Given the description of an element on the screen output the (x, y) to click on. 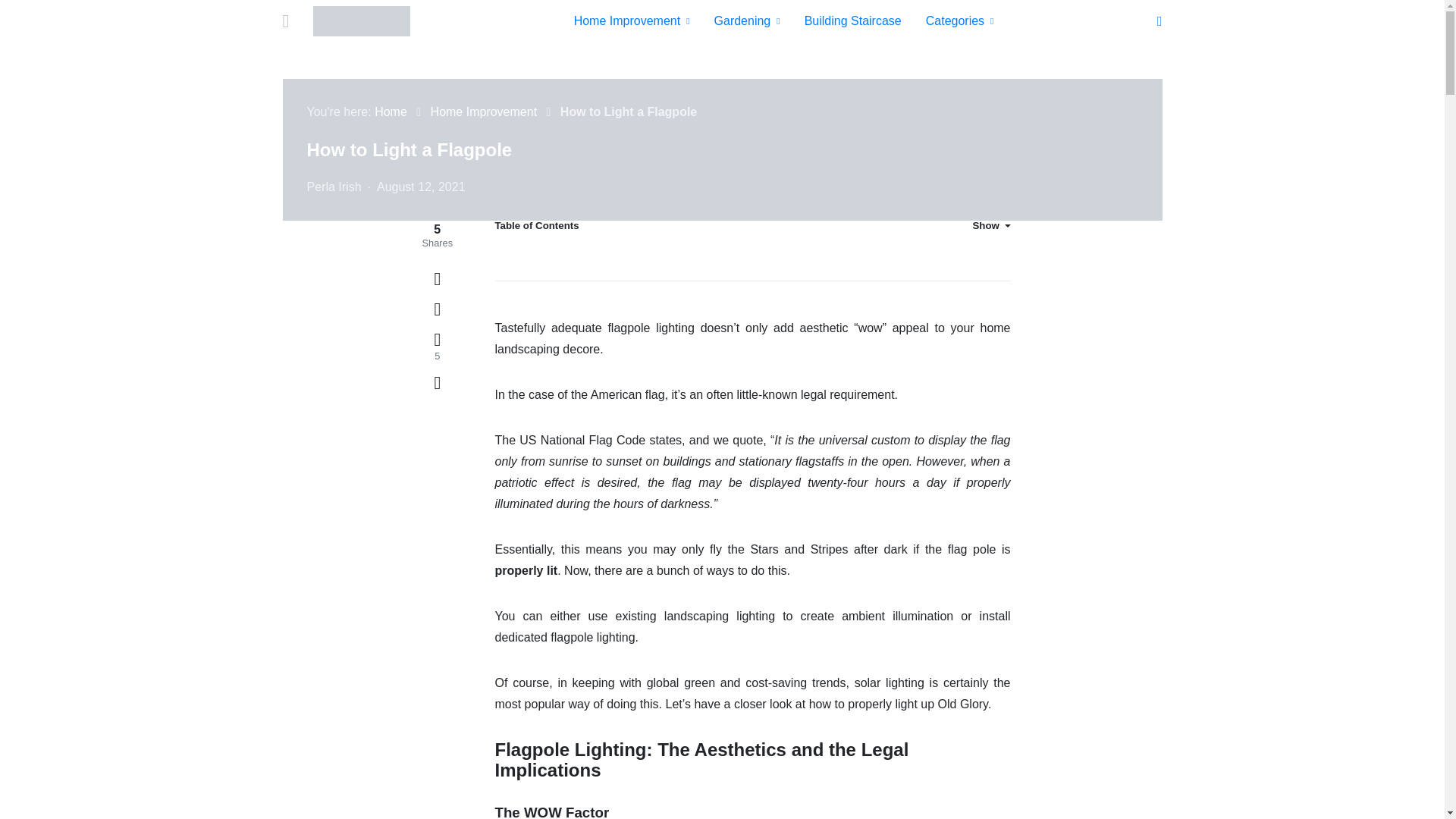
View all posts by Perla Irish (333, 186)
Home Improvement (631, 21)
